Given the description of an element on the screen output the (x, y) to click on. 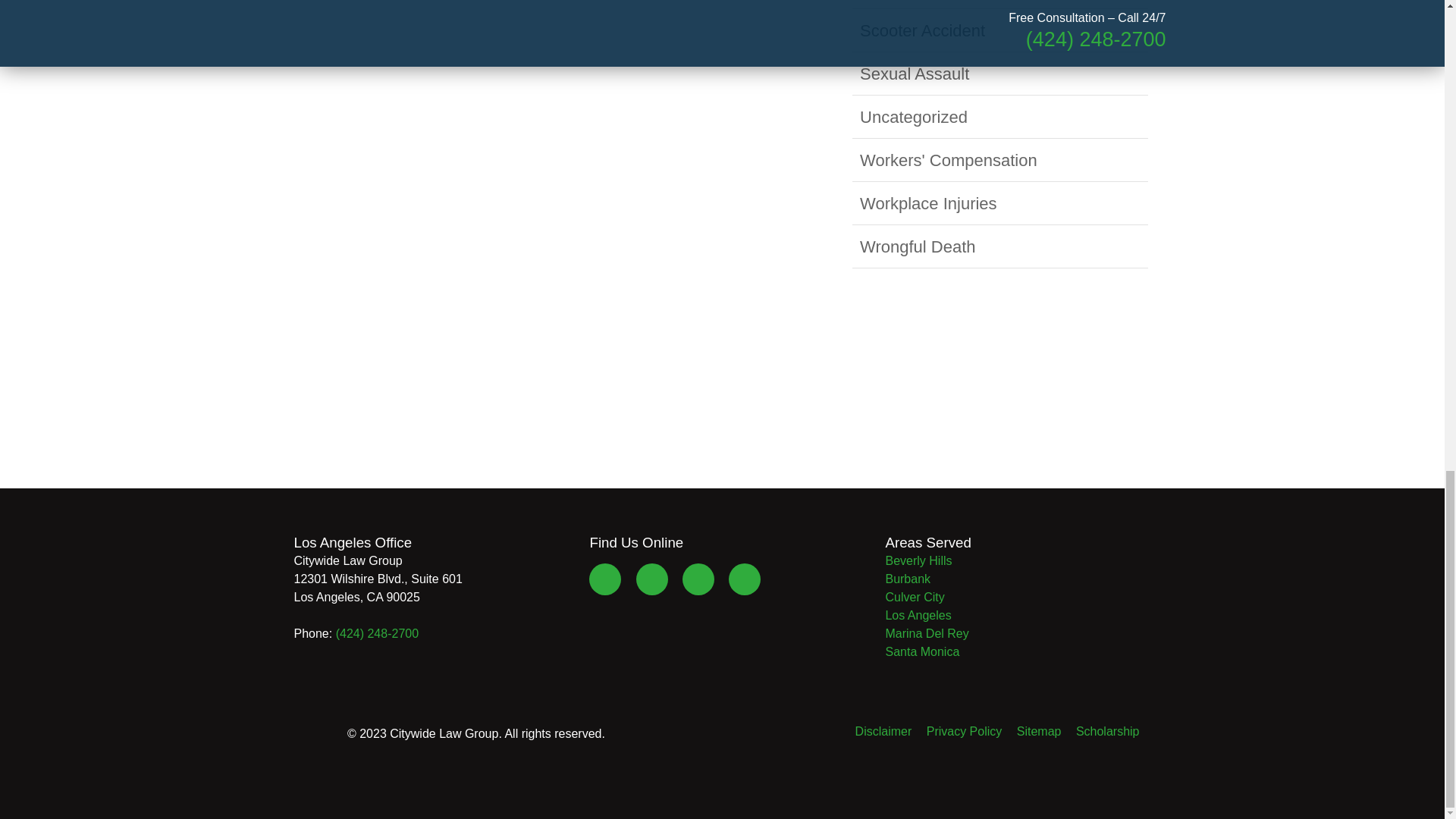
Workplace Injuries (928, 203)
Wrongful Death (917, 246)
Los Angeles (917, 615)
Burbank (907, 578)
Uncategorized (914, 116)
Workers' Compensation (948, 159)
Marina Del Rey (926, 633)
Santa Monica (922, 651)
Scooter Accident (922, 30)
Sexual Assault (914, 73)
